Given the description of an element on the screen output the (x, y) to click on. 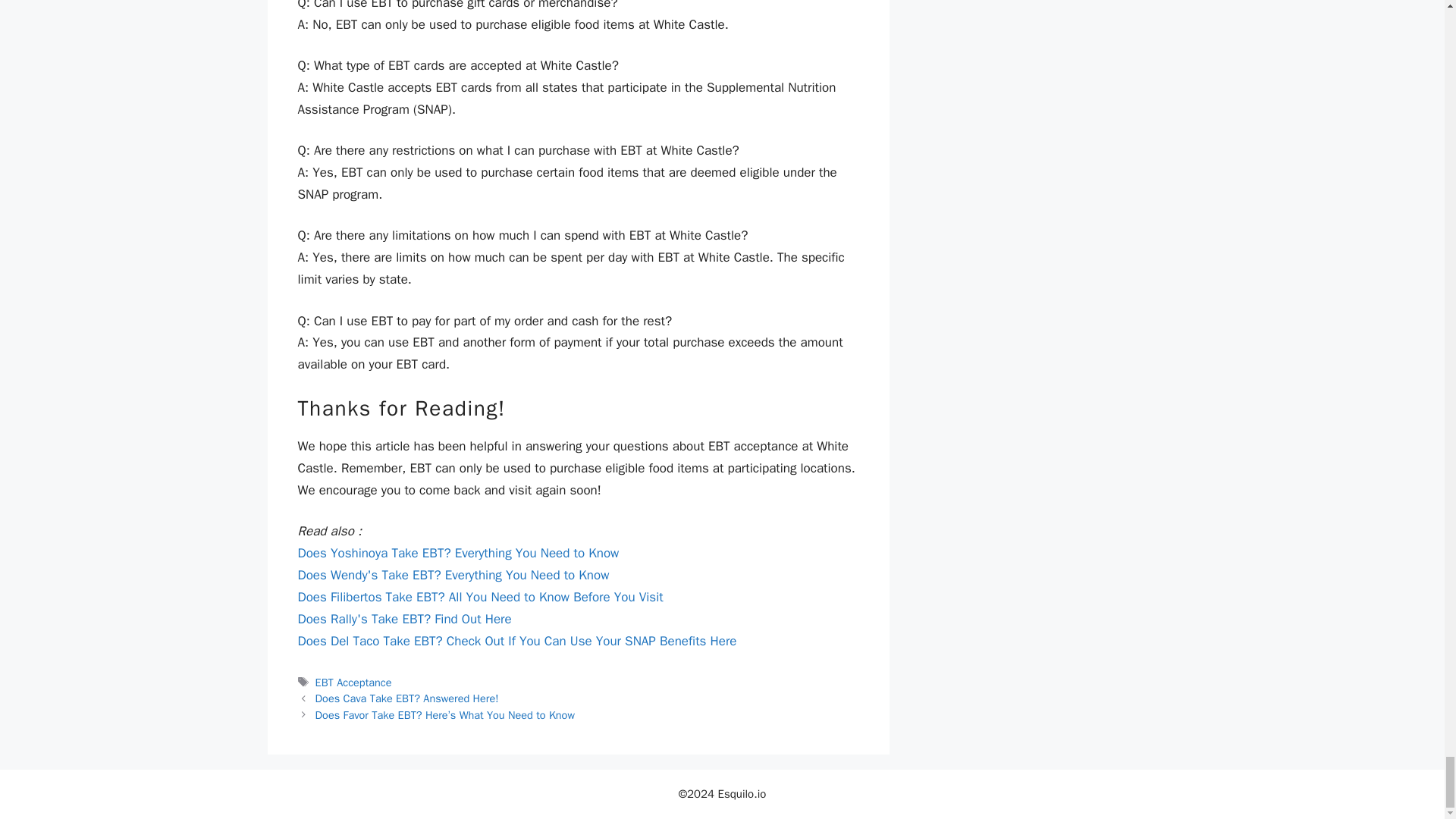
Does Cava Take EBT? Answered Here! (407, 698)
EBT Acceptance (353, 682)
Does Rally's Take EBT? Find Out Here (404, 618)
Does Yoshinoya Take EBT? Everything You Need to Know (457, 553)
Does Wendy's Take EBT? Everything You Need to Know (452, 575)
